Given the description of an element on the screen output the (x, y) to click on. 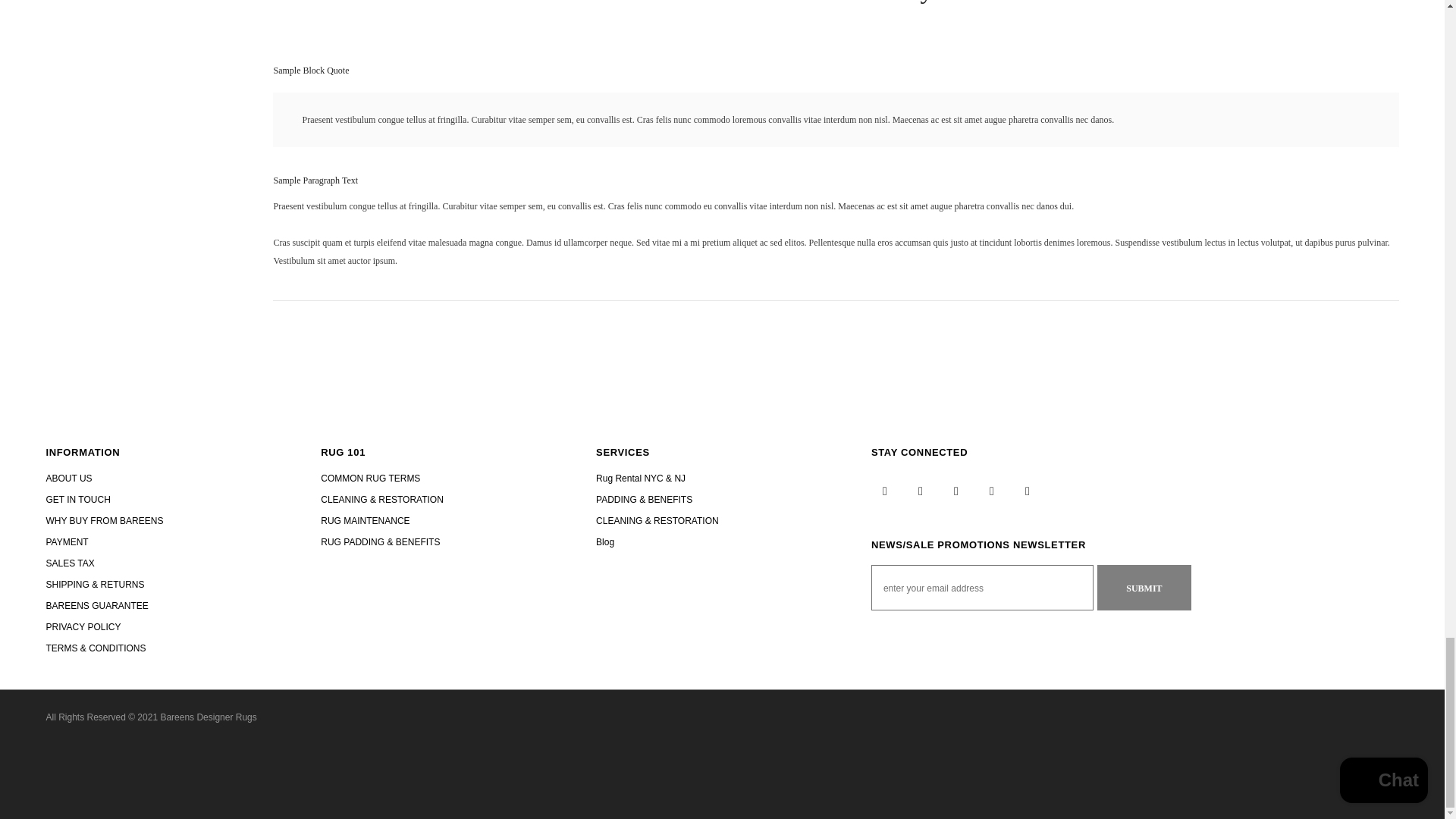
Submit (1144, 587)
